Given the description of an element on the screen output the (x, y) to click on. 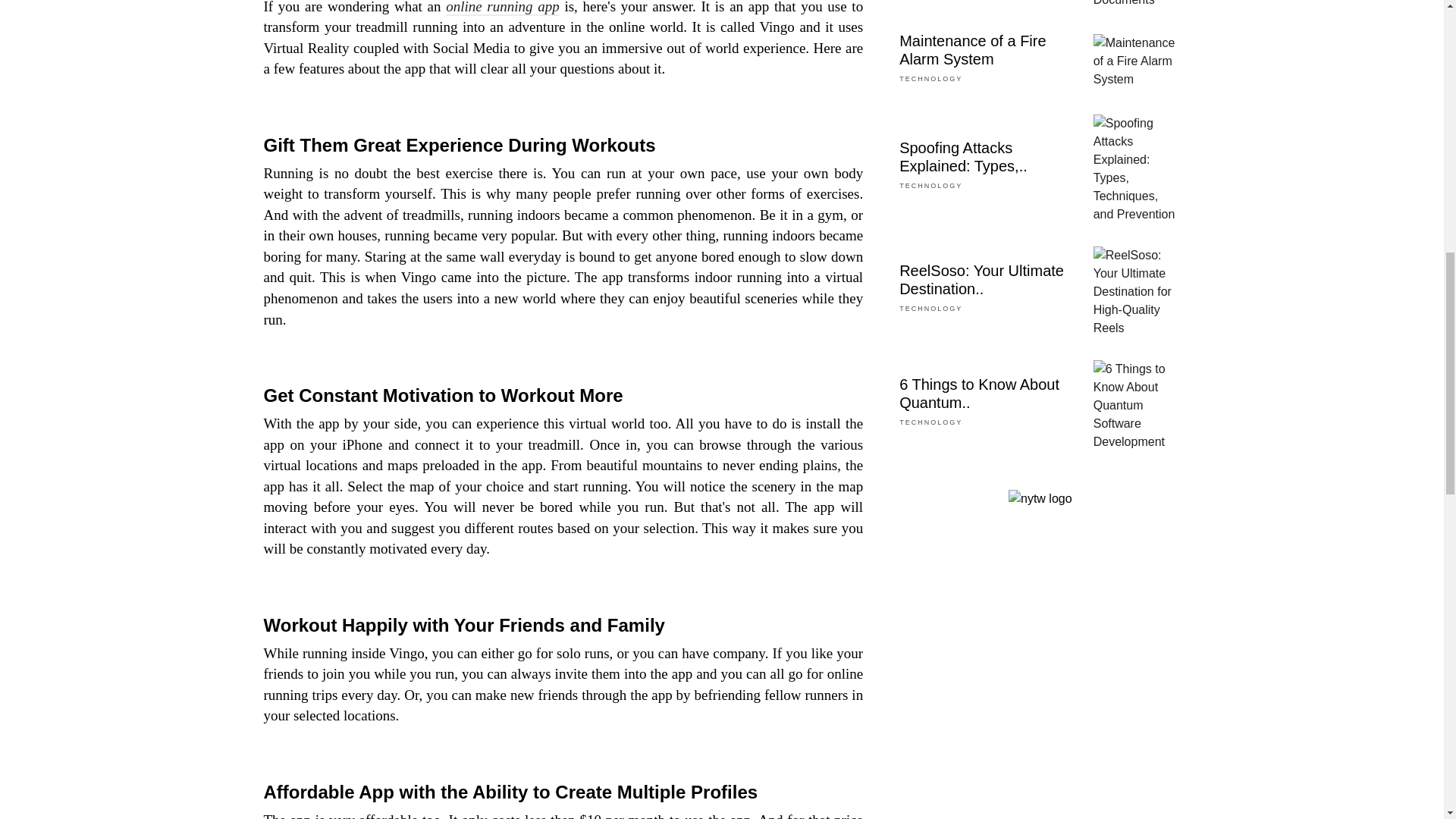
Technology (930, 78)
Best Practices for Online Verification of Documents (1136, 4)
Technology (930, 185)
Technology (930, 308)
ReelSoso: Your Ultimate Destination for High-Quality Reels (1136, 291)
Technology (930, 421)
Maintenance of a Fire Alarm System (1136, 61)
